Given the description of an element on the screen output the (x, y) to click on. 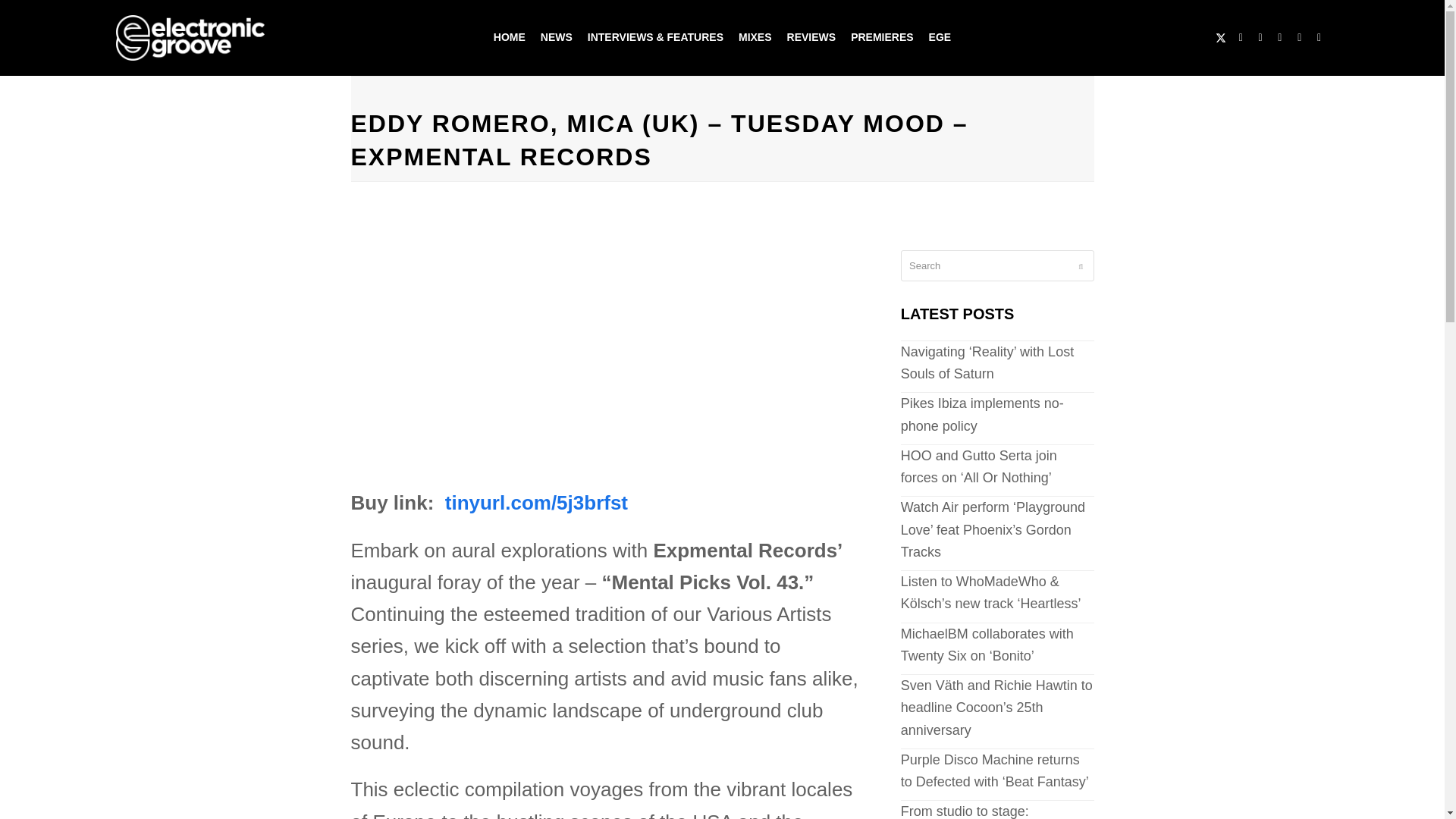
REVIEWS (811, 37)
Instagram (1259, 37)
Email (1299, 37)
Twitter (1220, 37)
HOME (509, 37)
Facebook (1240, 37)
Spotify (1318, 37)
Instagram (1259, 37)
MIXES (754, 37)
